Given the description of an element on the screen output the (x, y) to click on. 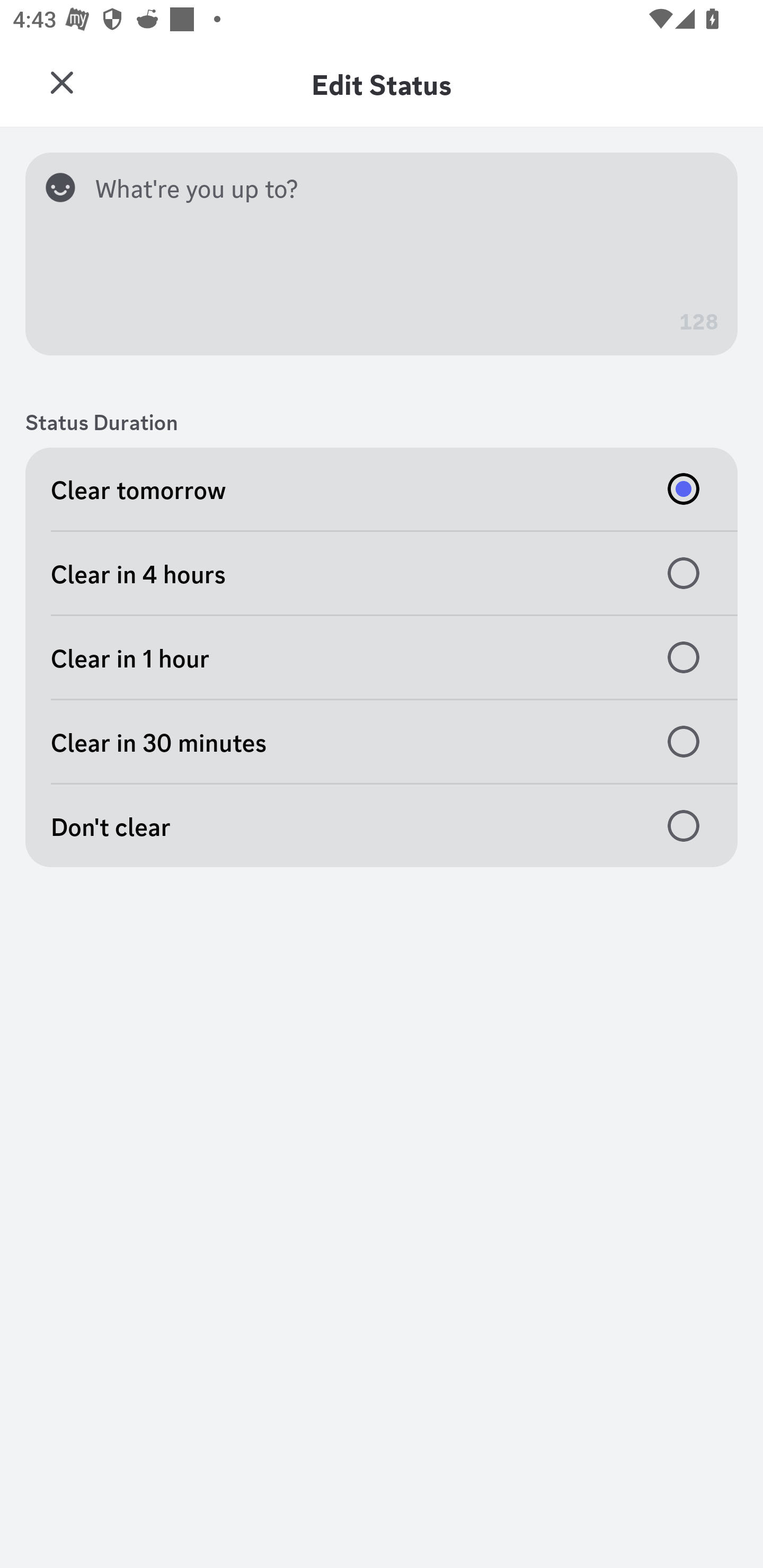
Close (61, 82)
Select Custom Status Emoji (66, 186)
Clear tomorrow (381, 487)
Clear in 4 hours (381, 572)
Clear in 1 hour (381, 657)
Clear in 30 minutes (381, 741)
Don't clear (381, 825)
